Given the description of an element on the screen output the (x, y) to click on. 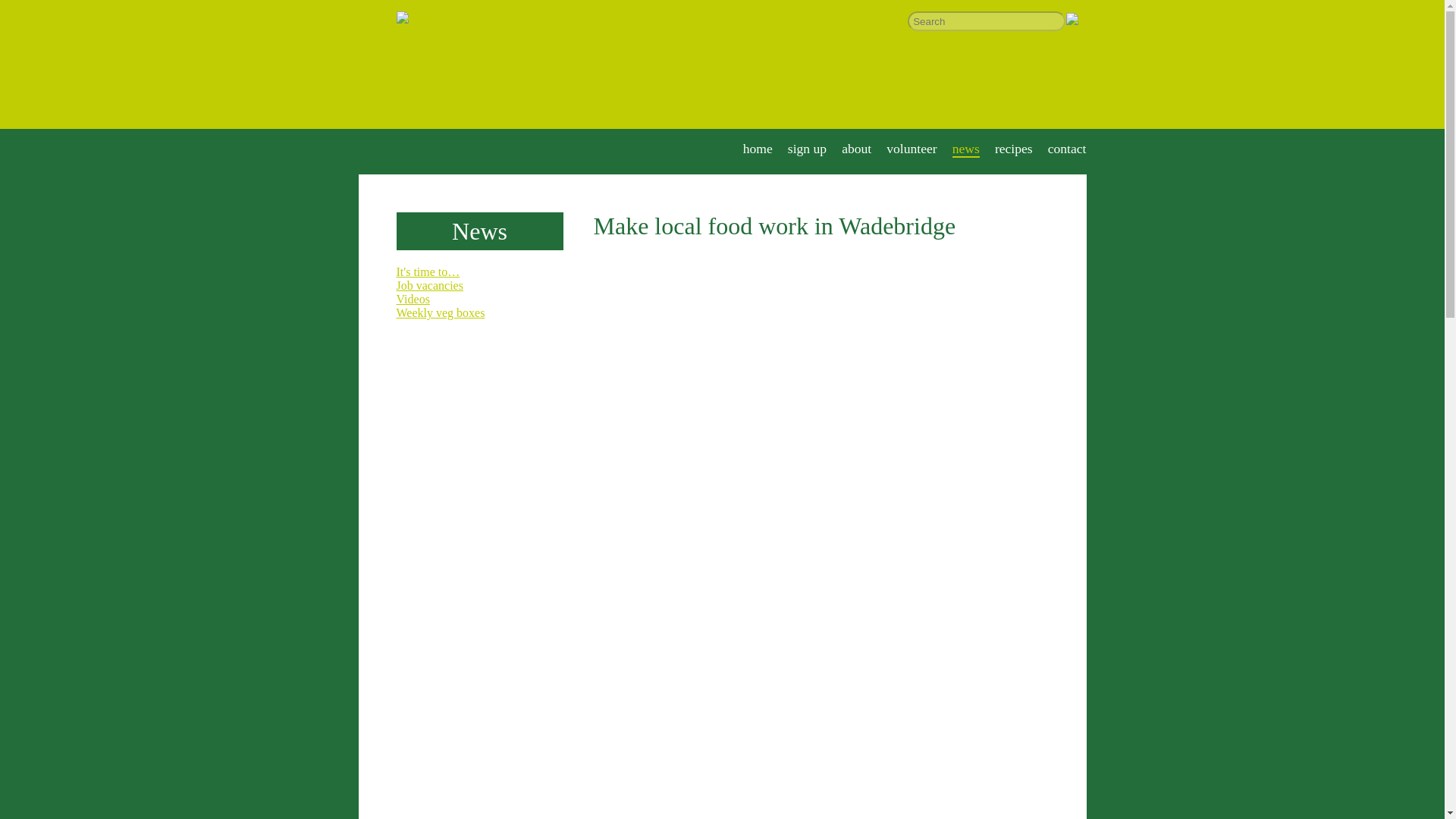
contact (1067, 148)
Job vacancies (429, 285)
Videos (412, 298)
about (855, 148)
News (478, 230)
sign up (807, 148)
volunteer (911, 148)
recipes (1013, 148)
news (965, 149)
Weekly veg boxes (440, 312)
